Given the description of an element on the screen output the (x, y) to click on. 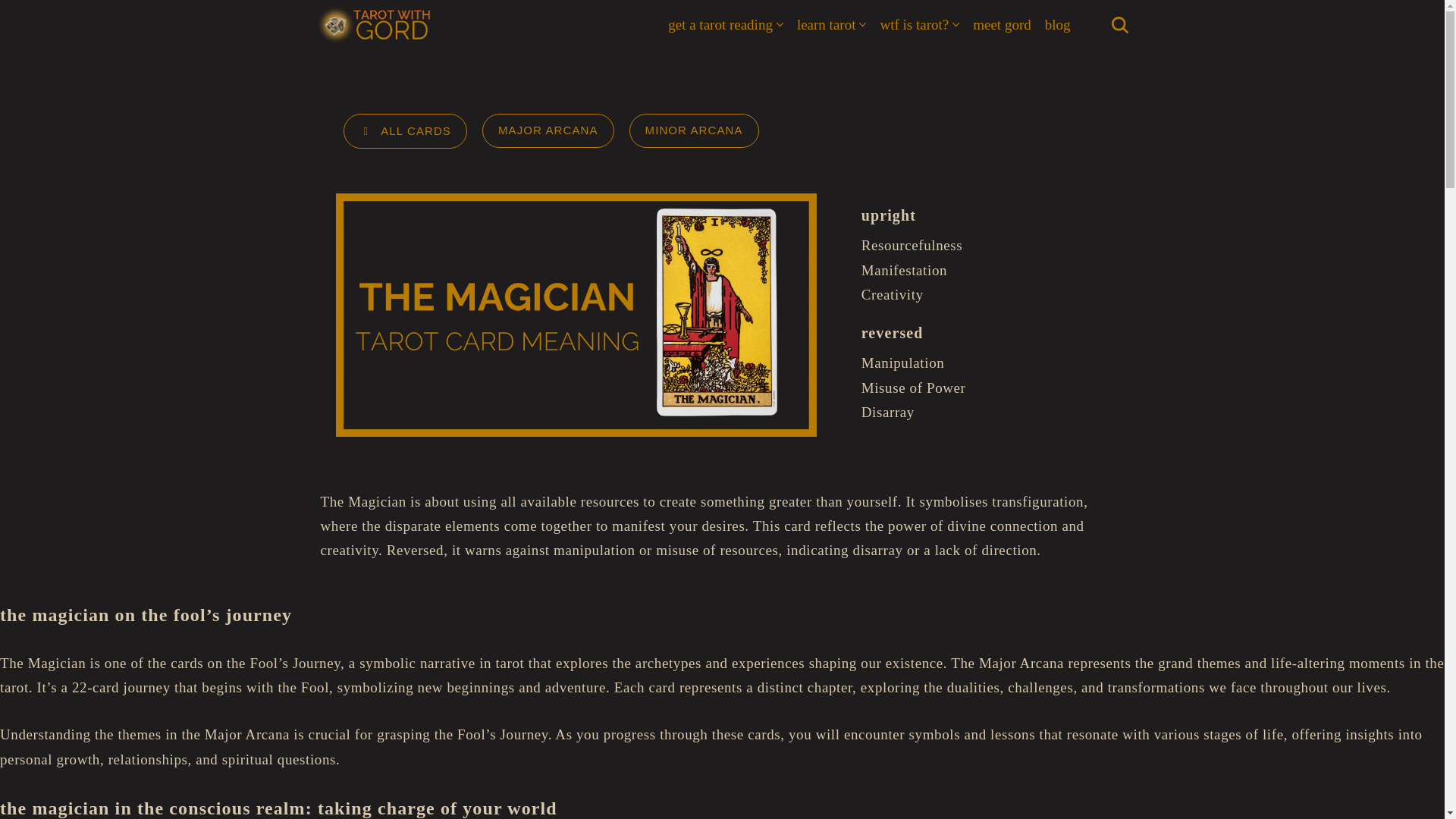
get a tarot reading (720, 24)
Skip to content (11, 31)
learn tarot (826, 24)
